Given the description of an element on the screen output the (x, y) to click on. 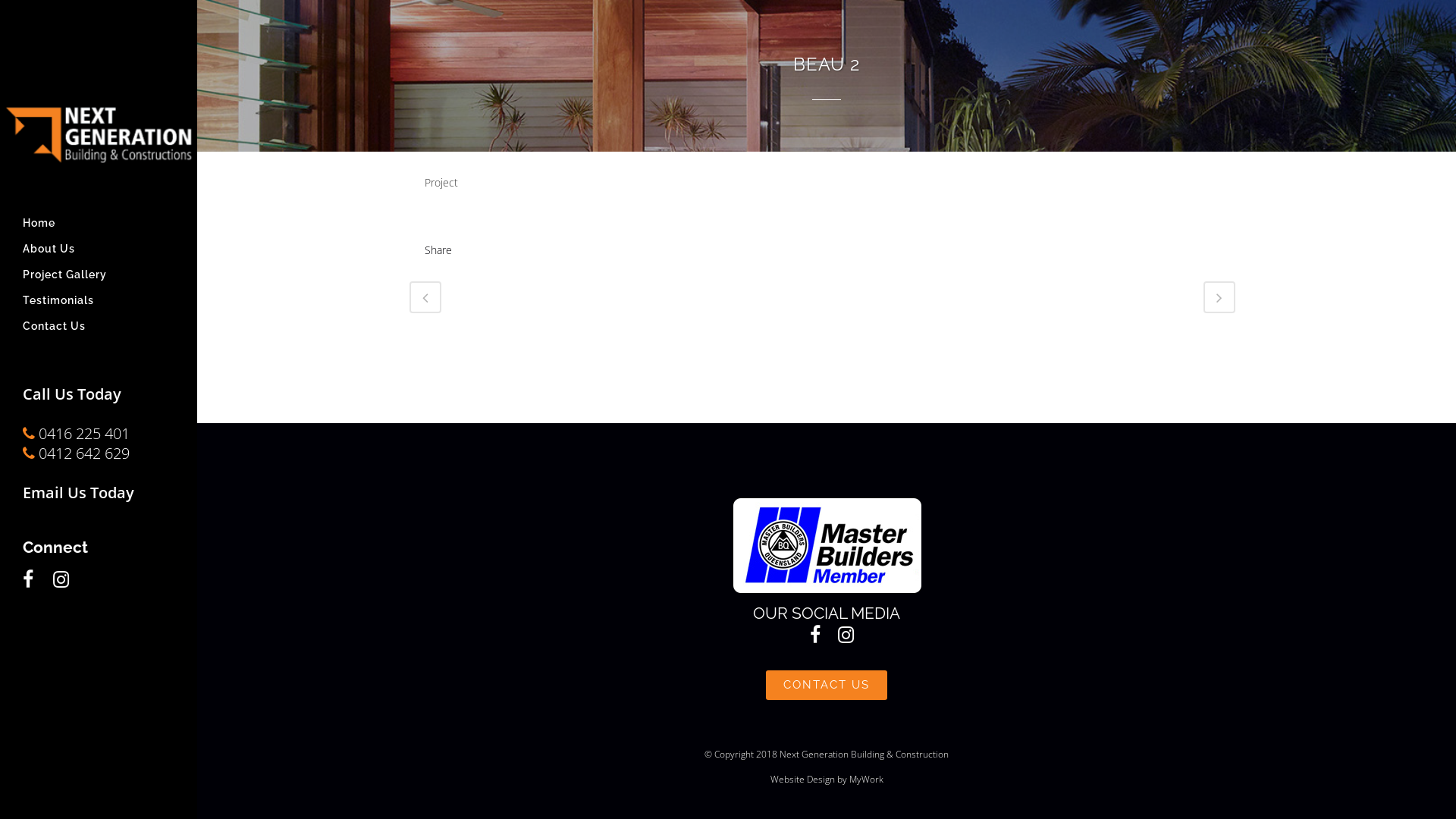
CONTACT US Element type: text (826, 684)
Next Generation Building & Construction Element type: text (863, 753)
0412 642 629 Element type: text (75, 452)
Project Gallery Element type: text (98, 274)
Contact Us Element type: text (98, 325)
Testimonials Element type: text (98, 300)
Share Element type: text (437, 249)
0416 225 401 Element type: text (75, 433)
About Us Element type: text (98, 248)
Email Us Today Element type: text (78, 492)
Home Element type: text (98, 222)
MyWork Element type: text (866, 778)
